Given the description of an element on the screen output the (x, y) to click on. 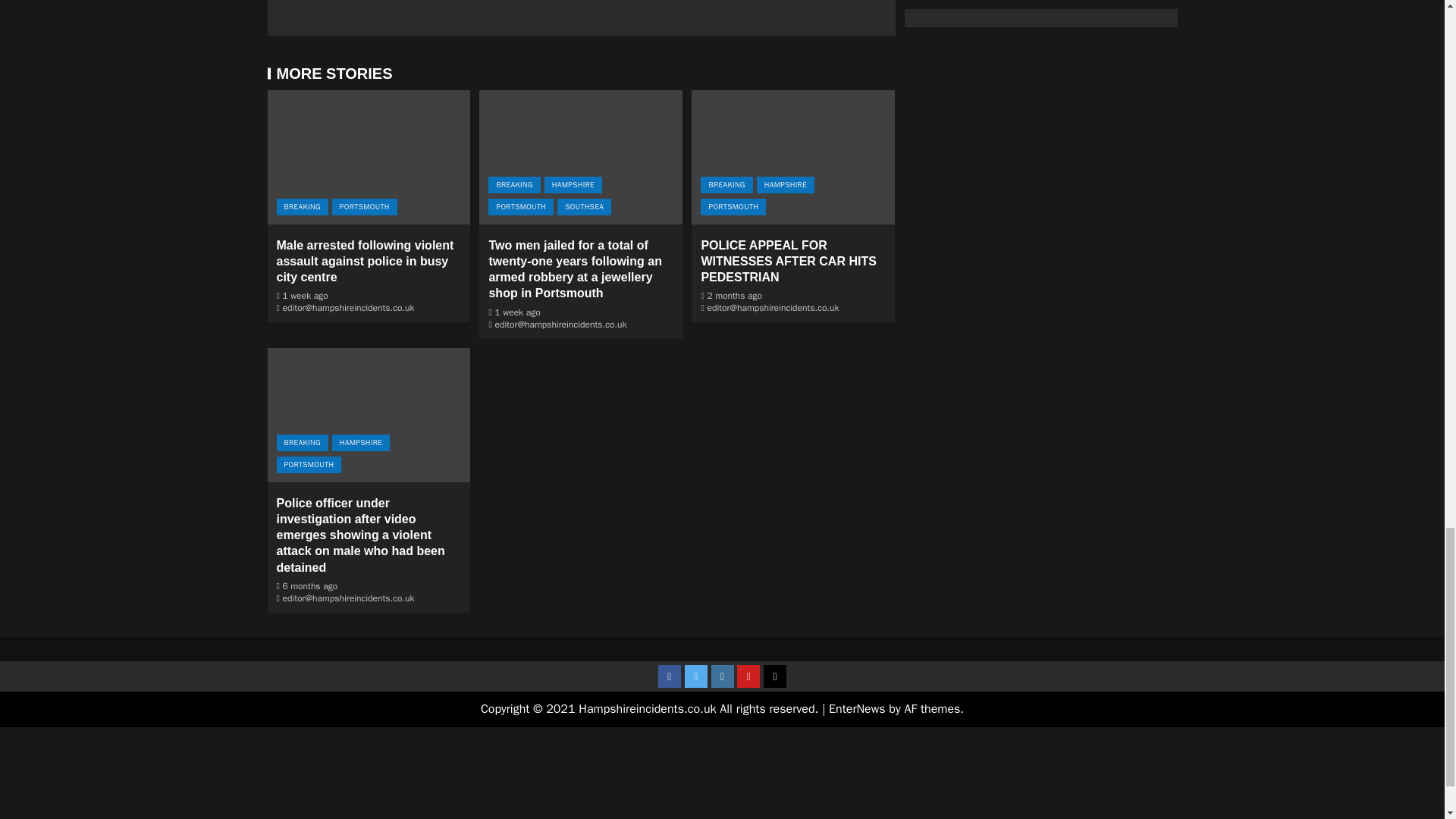
Advertisement (580, 10)
BREAKING (513, 184)
PORTSMOUTH (364, 207)
Advertisement (721, 773)
HAMPSHIRE (573, 184)
BREAKING (301, 207)
PORTSMOUTH (520, 207)
